Given the description of an element on the screen output the (x, y) to click on. 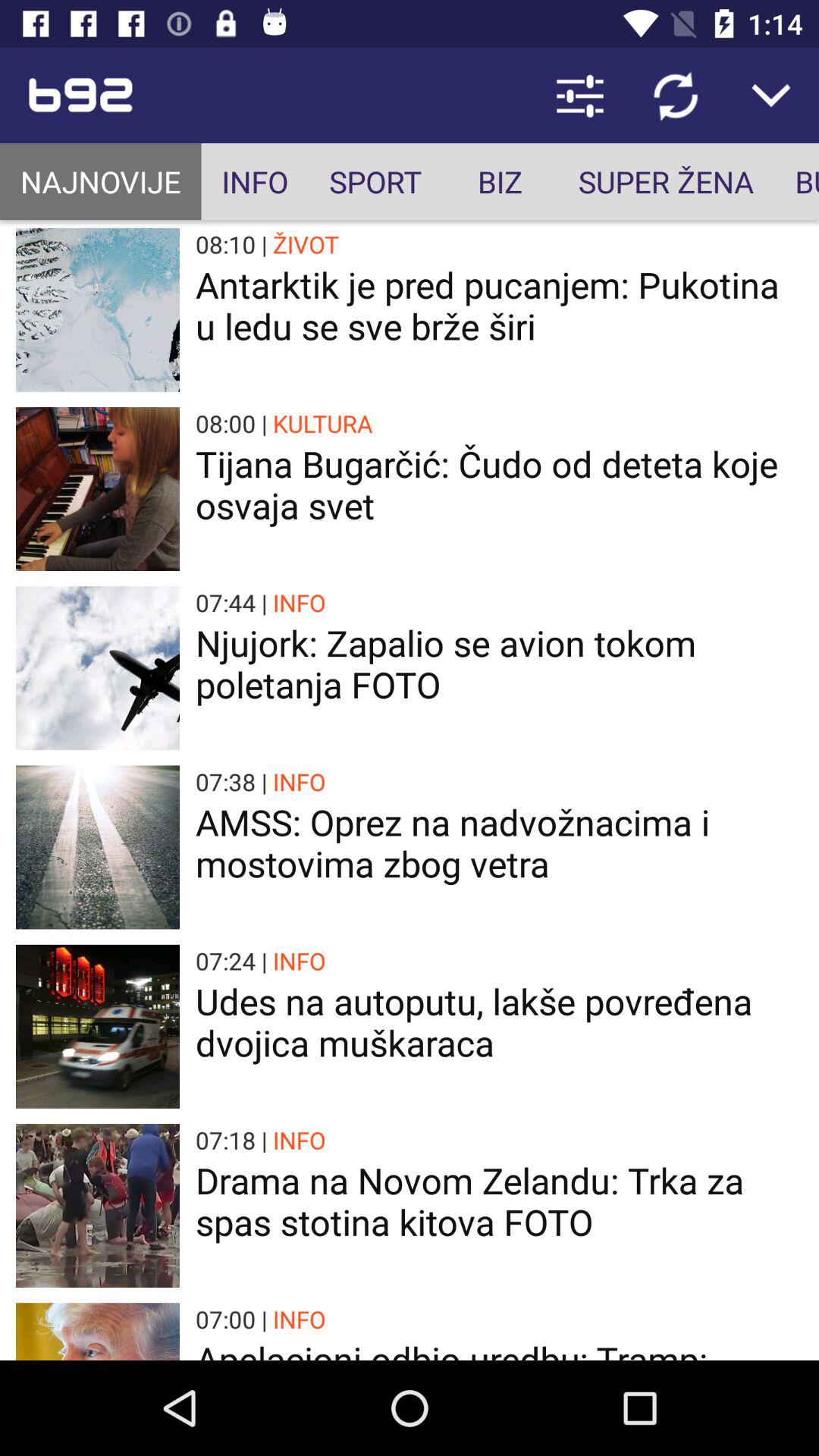
click icon to the right of the info icon (375, 181)
